Given the description of an element on the screen output the (x, y) to click on. 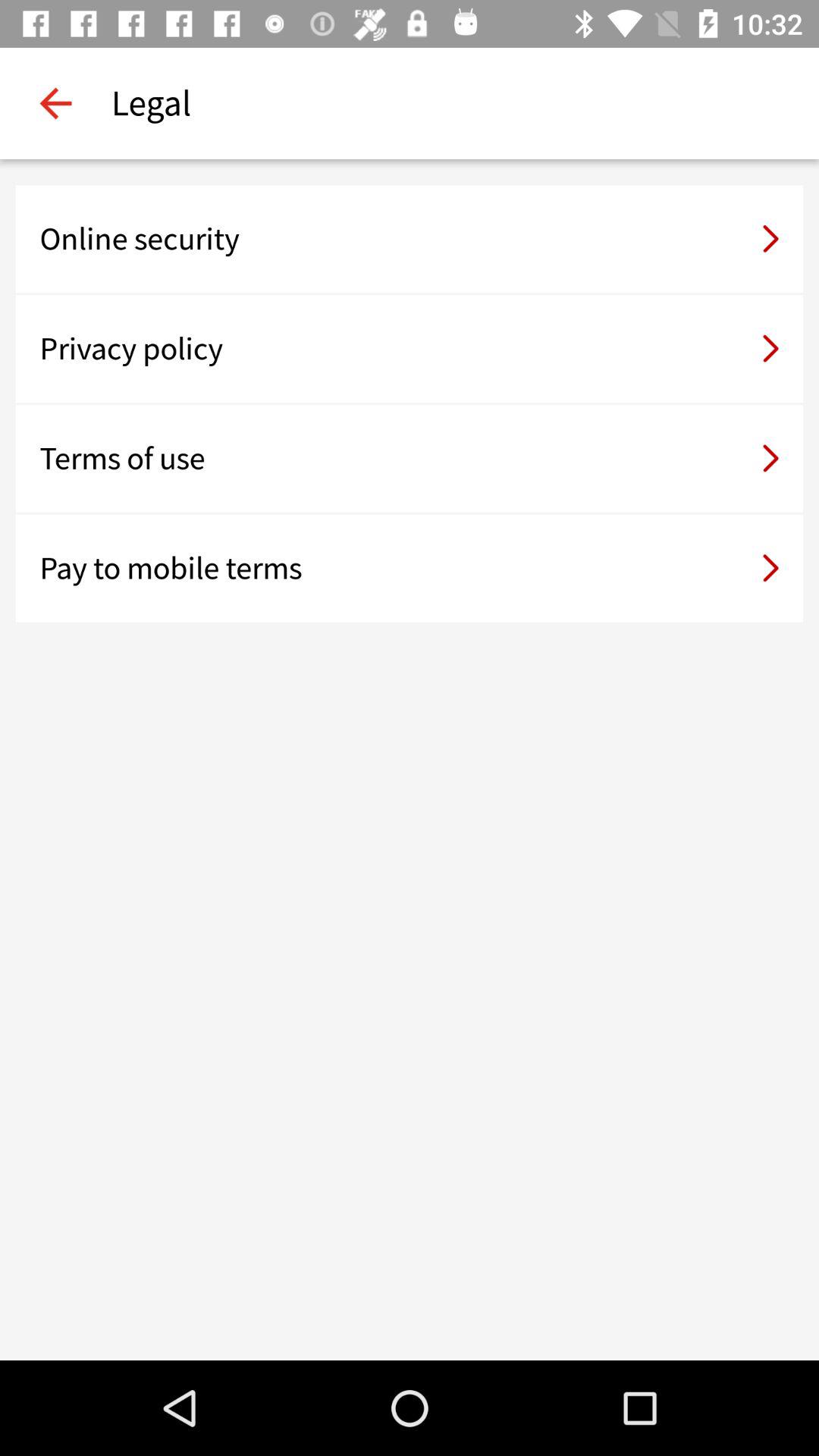
open the item next to legal item (55, 103)
